Given the description of an element on the screen output the (x, y) to click on. 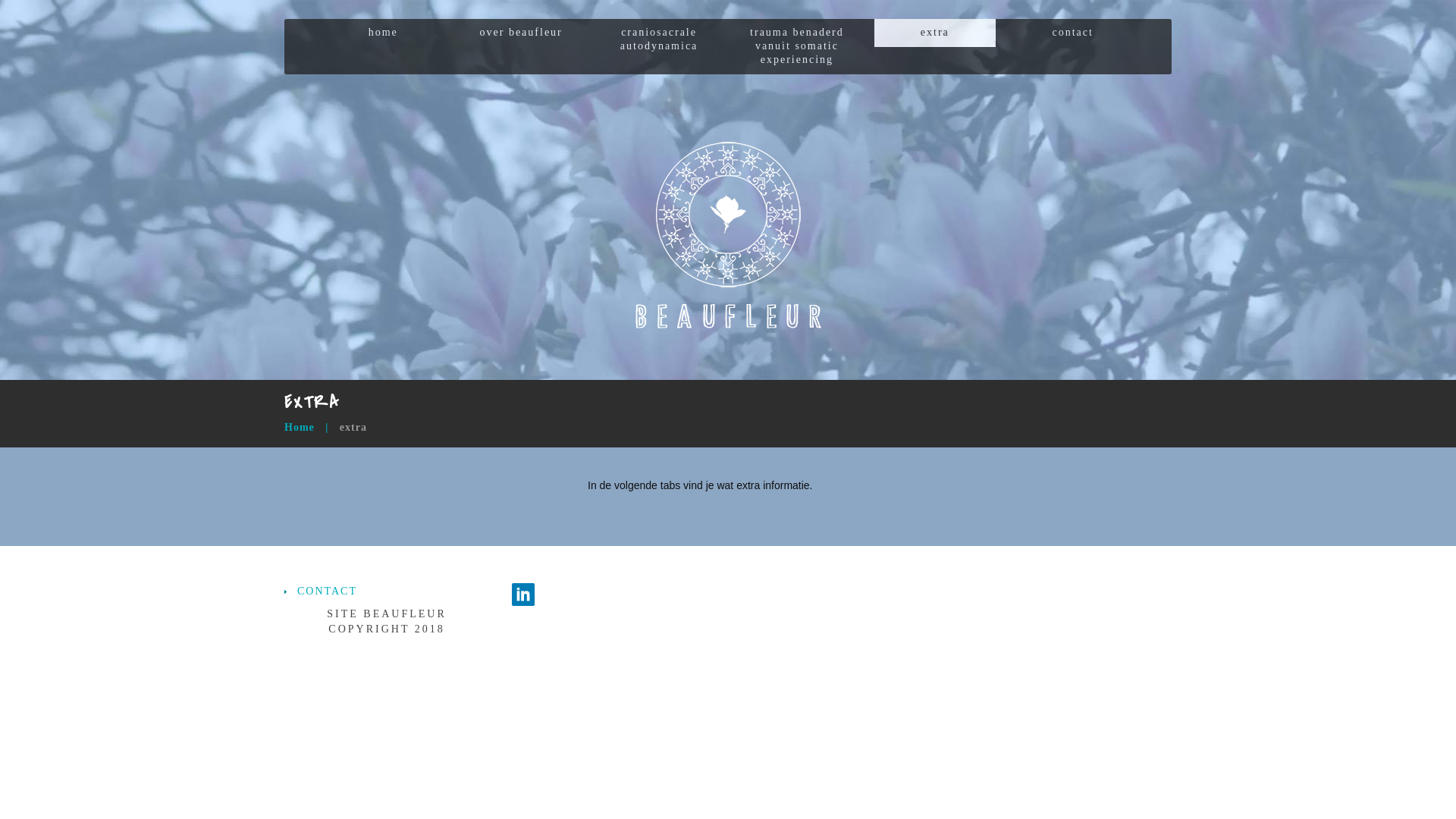
extra Element type: text (934, 32)
Beaufleur op Linked In Element type: hover (522, 592)
contact Element type: text (1072, 32)
Home Element type: text (299, 427)
home Element type: text (382, 32)
CONTACT Element type: text (327, 590)
over beaufleur Element type: text (520, 32)
Craniosacrale therapie en counseling Element type: hover (727, 235)
craniosacrale autodynamica Element type: text (658, 39)
trauma benaderd vanuit somatic experiencing Element type: text (796, 46)
